Given the description of an element on the screen output the (x, y) to click on. 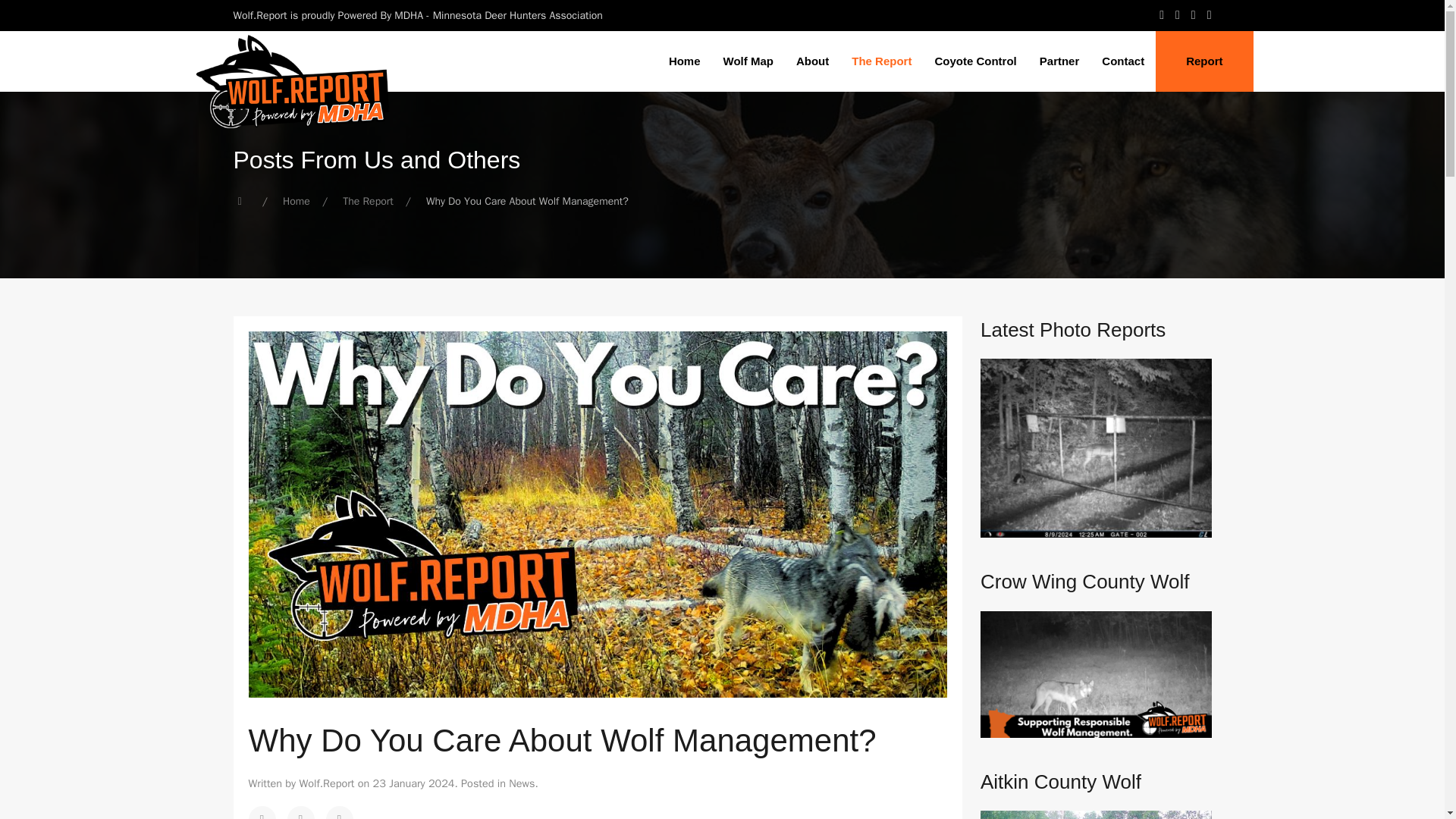
Home (296, 201)
About (812, 61)
Twitter (300, 812)
IMG1399w (1095, 448)
Coyote Control (975, 61)
ScreenShotTool20240826114603 (1095, 673)
Report (1204, 61)
Partner (1058, 61)
Wolf Map (747, 61)
LinkedIn (339, 812)
